Given the description of an element on the screen output the (x, y) to click on. 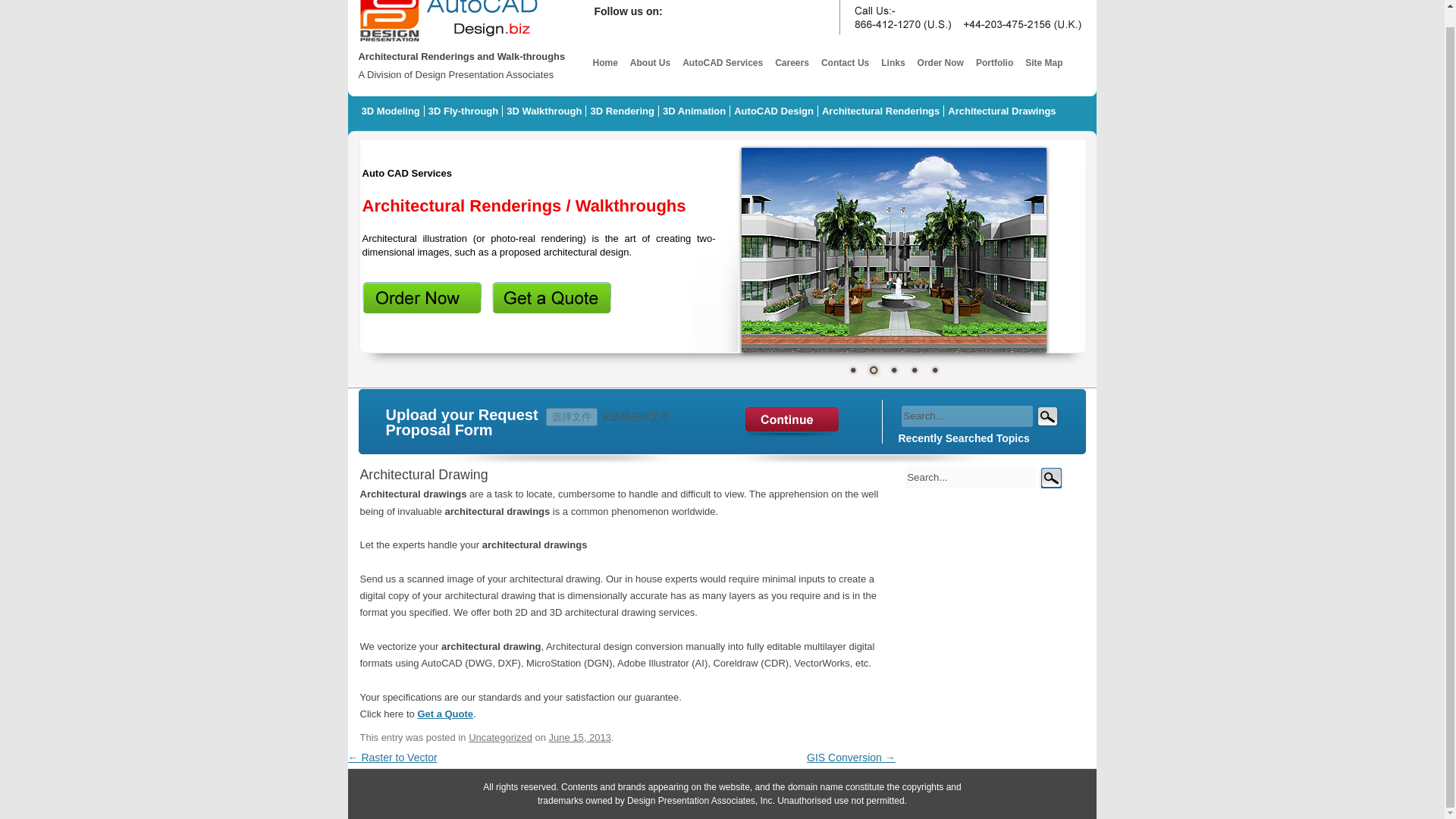
AutoCAD Design (774, 111)
Careers (791, 62)
Links (892, 62)
Search... (970, 477)
Architectural Renderings and Walk-throughs (449, 42)
4 (913, 369)
3D Modeling (391, 111)
About Us (650, 62)
Architectural Renderings (880, 111)
Get a Quote (444, 713)
Search... (970, 477)
Recently Searched Topics (963, 438)
June 15, 2013 (579, 737)
3D Rendering (622, 111)
Portfolio (994, 62)
